Given the description of an element on the screen output the (x, y) to click on. 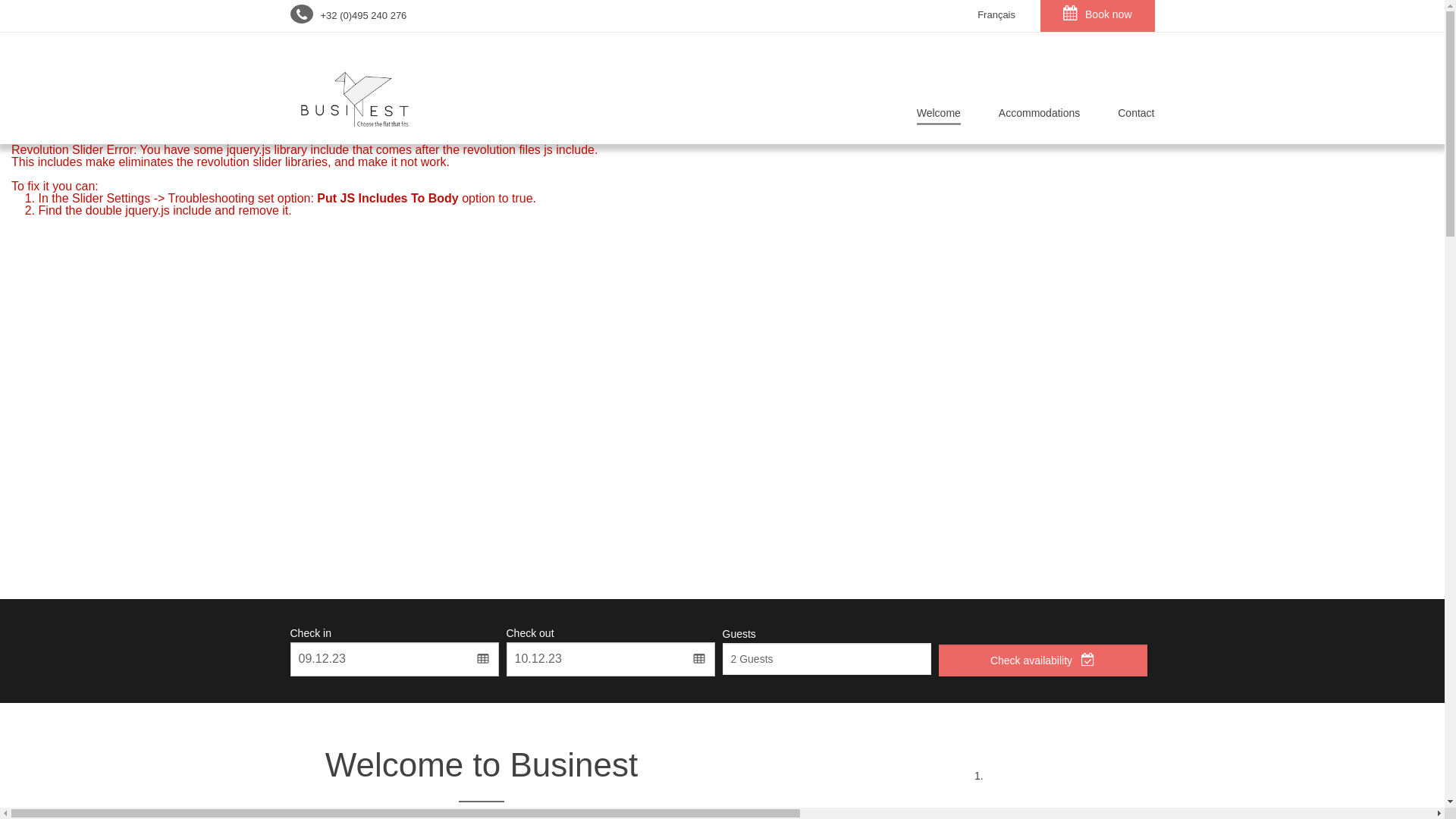
Check availability Element type: text (1042, 660)
Book now Element type: text (1097, 15)
Welcome Element type: text (938, 116)
Accommodations Element type: text (1038, 116)
Contact Element type: text (1126, 116)
